Given the description of an element on the screen output the (x, y) to click on. 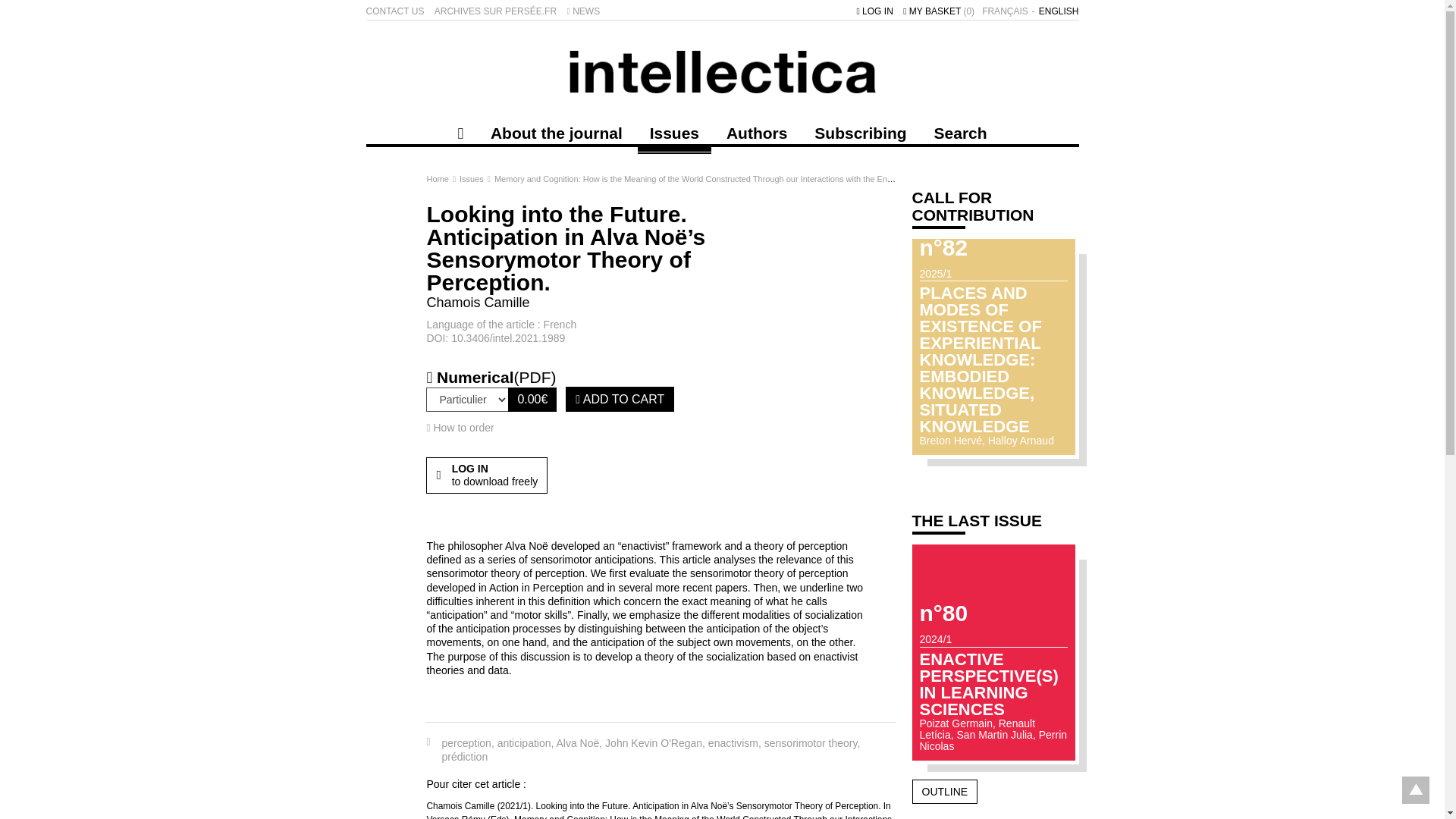
Home (437, 178)
ENGLISH (1058, 11)
LOG IN (874, 10)
About the journal (556, 131)
Issues (674, 131)
NEWS (582, 10)
CONTACT US (394, 10)
